Given the description of an element on the screen output the (x, y) to click on. 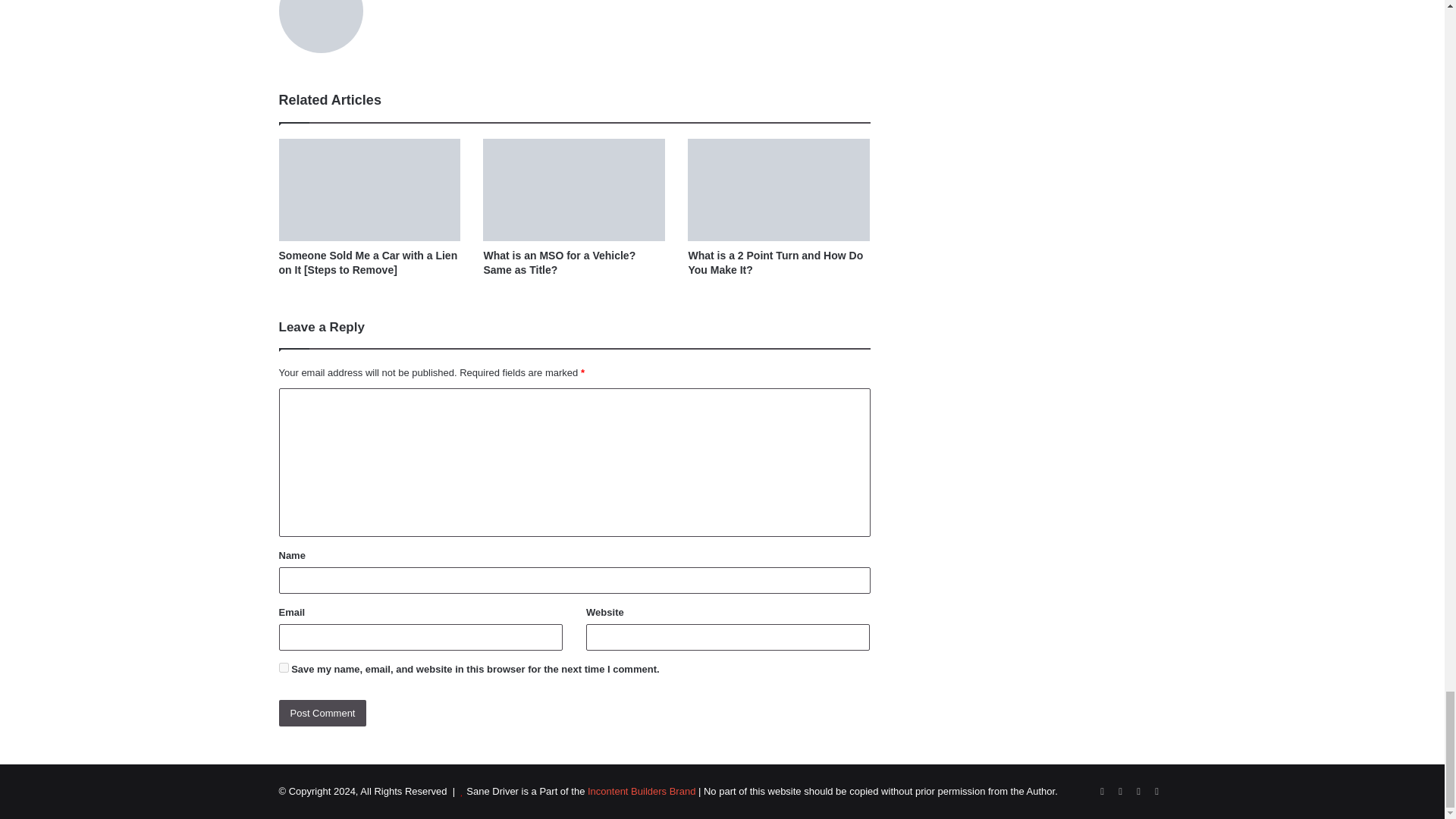
Post Comment (322, 713)
yes (283, 667)
